Given the description of an element on the screen output the (x, y) to click on. 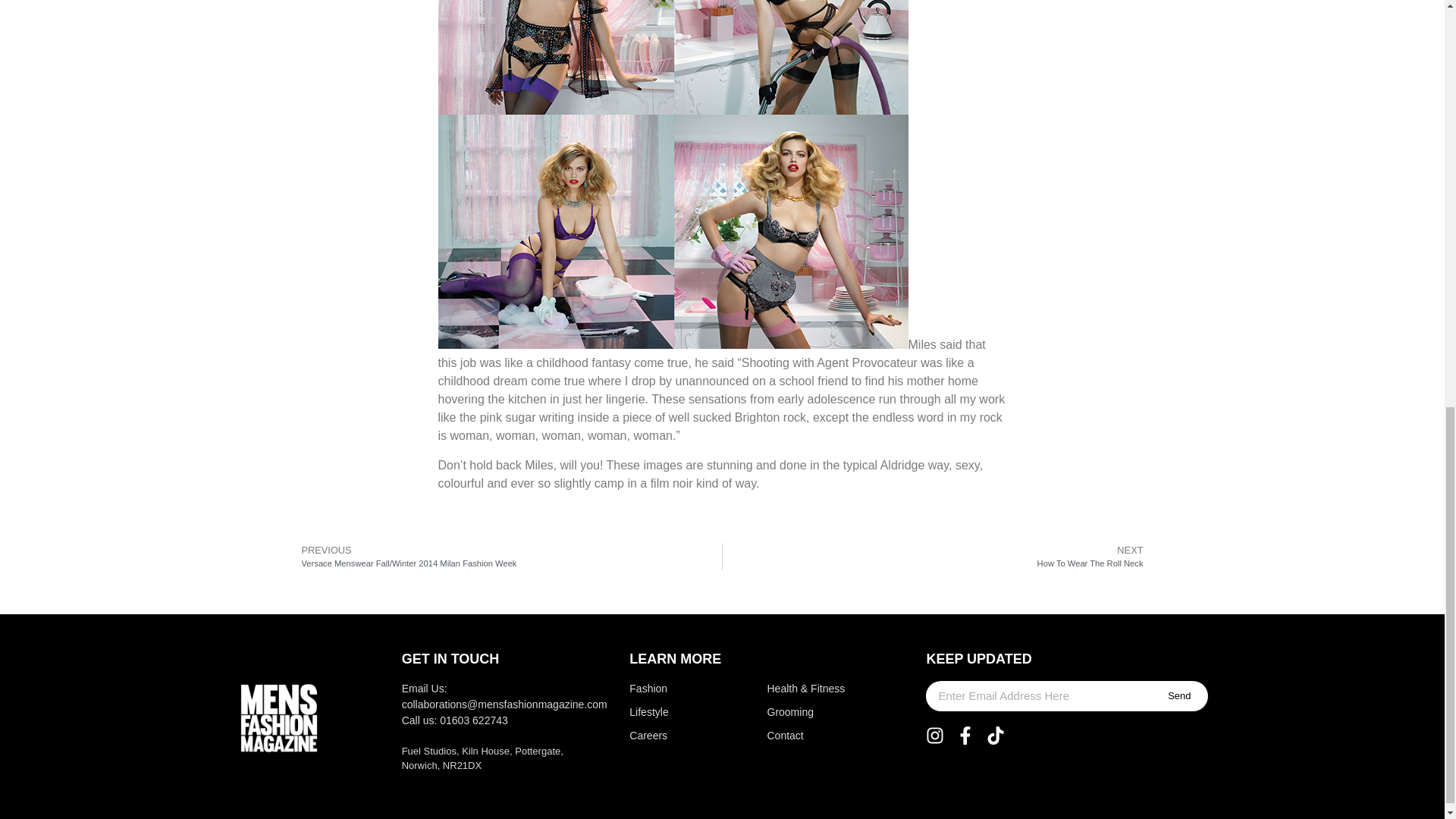
Grooming (807, 712)
Lifestyle (667, 712)
Send (1179, 695)
Fashion (667, 688)
Contact (807, 735)
